Given the description of an element on the screen output the (x, y) to click on. 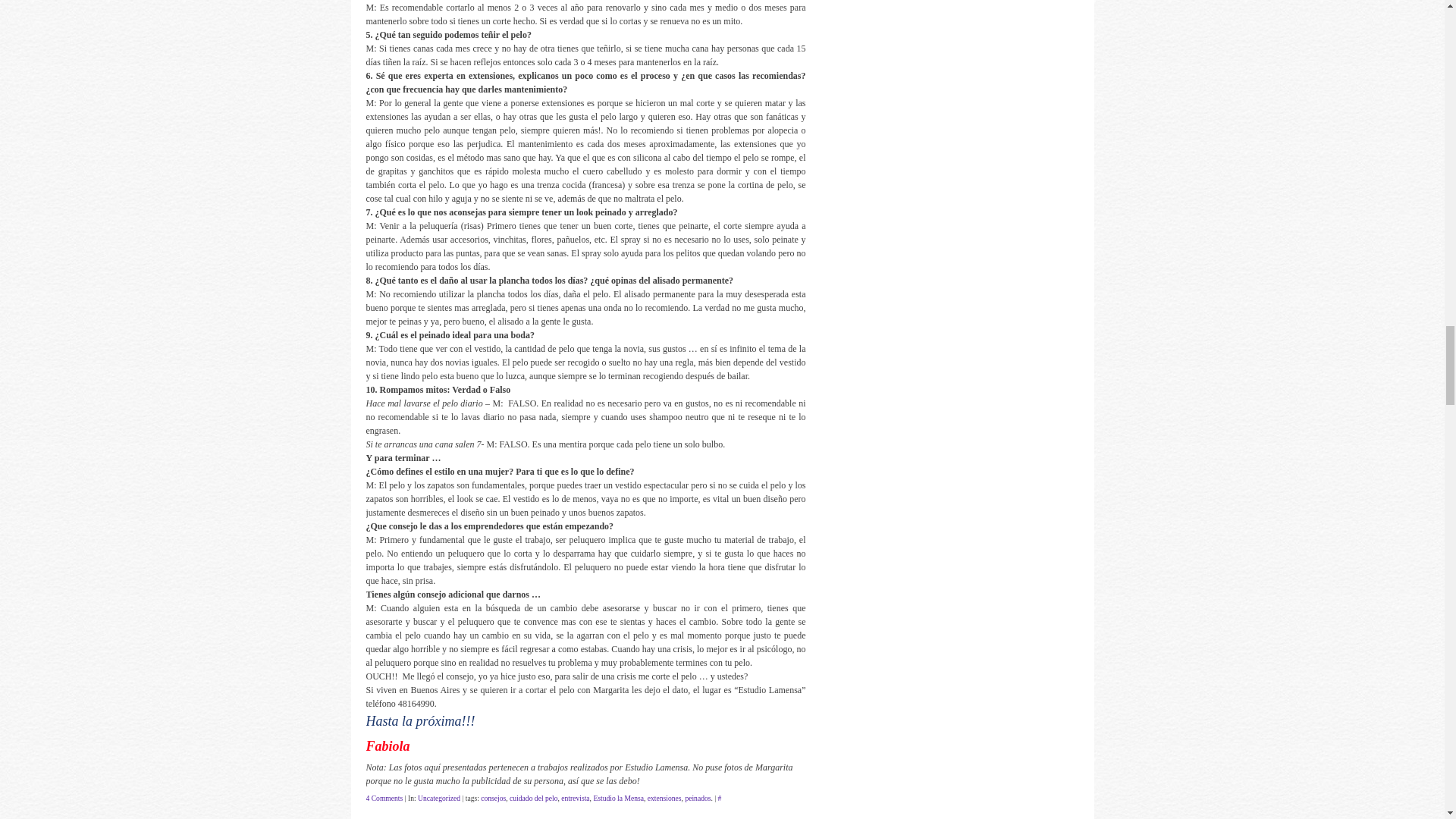
cuidado del pelo (533, 797)
4 Comments (384, 797)
Estudio la Mensa (617, 797)
consejos (492, 797)
Uncategorized (438, 797)
entrevista (574, 797)
peinados (697, 797)
extensiones (664, 797)
